Given the description of an element on the screen output the (x, y) to click on. 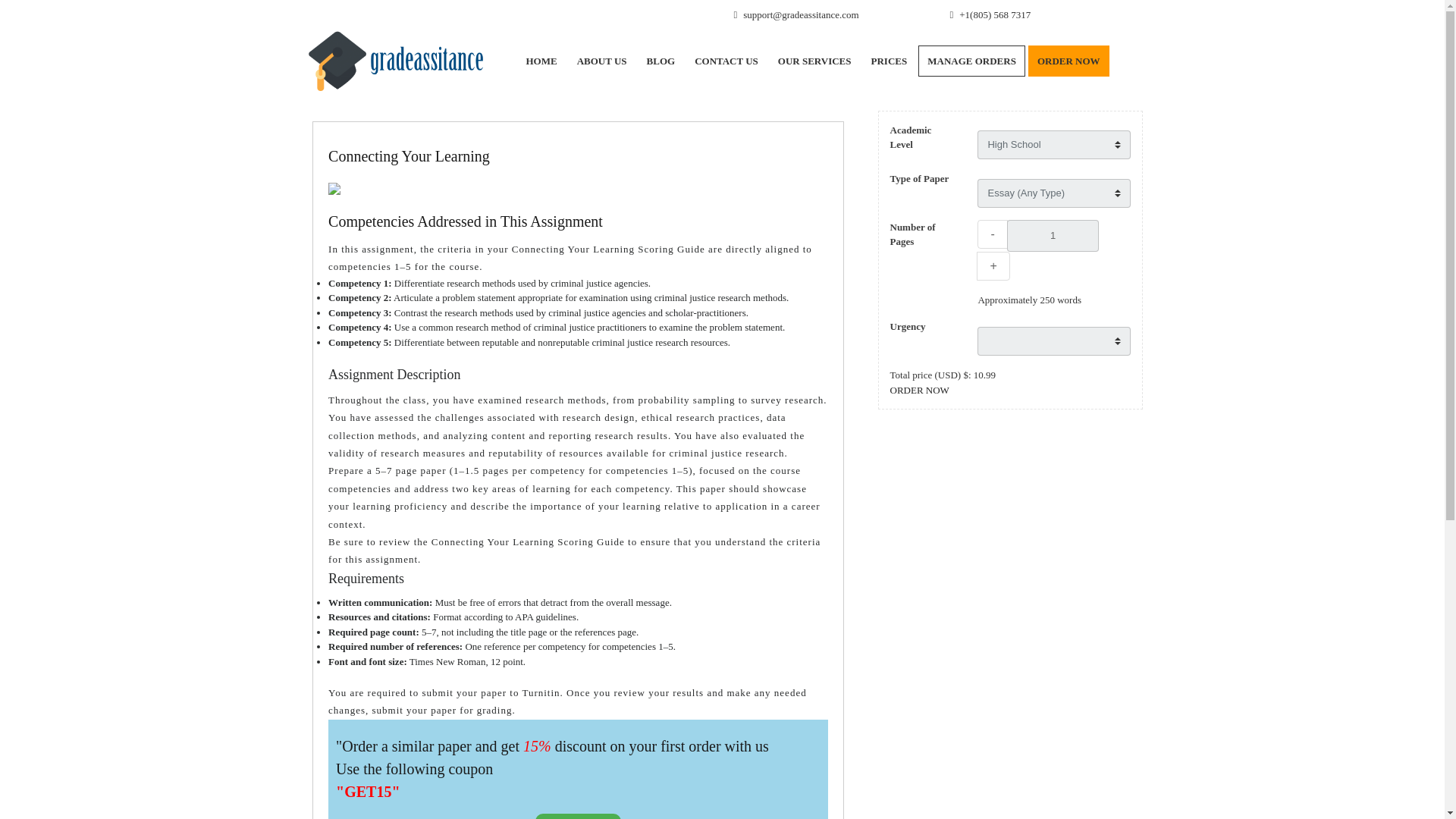
ORDER NOW (1068, 60)
Order Now (577, 816)
ORDER NOW (919, 389)
BLOG (661, 60)
CONTACT US (726, 60)
PRICES (889, 60)
- (991, 234)
HOME (540, 60)
MANAGE ORDERS (971, 60)
ABOUT US (601, 60)
1 (1053, 235)
OUR SERVICES (815, 60)
